Given the description of an element on the screen output the (x, y) to click on. 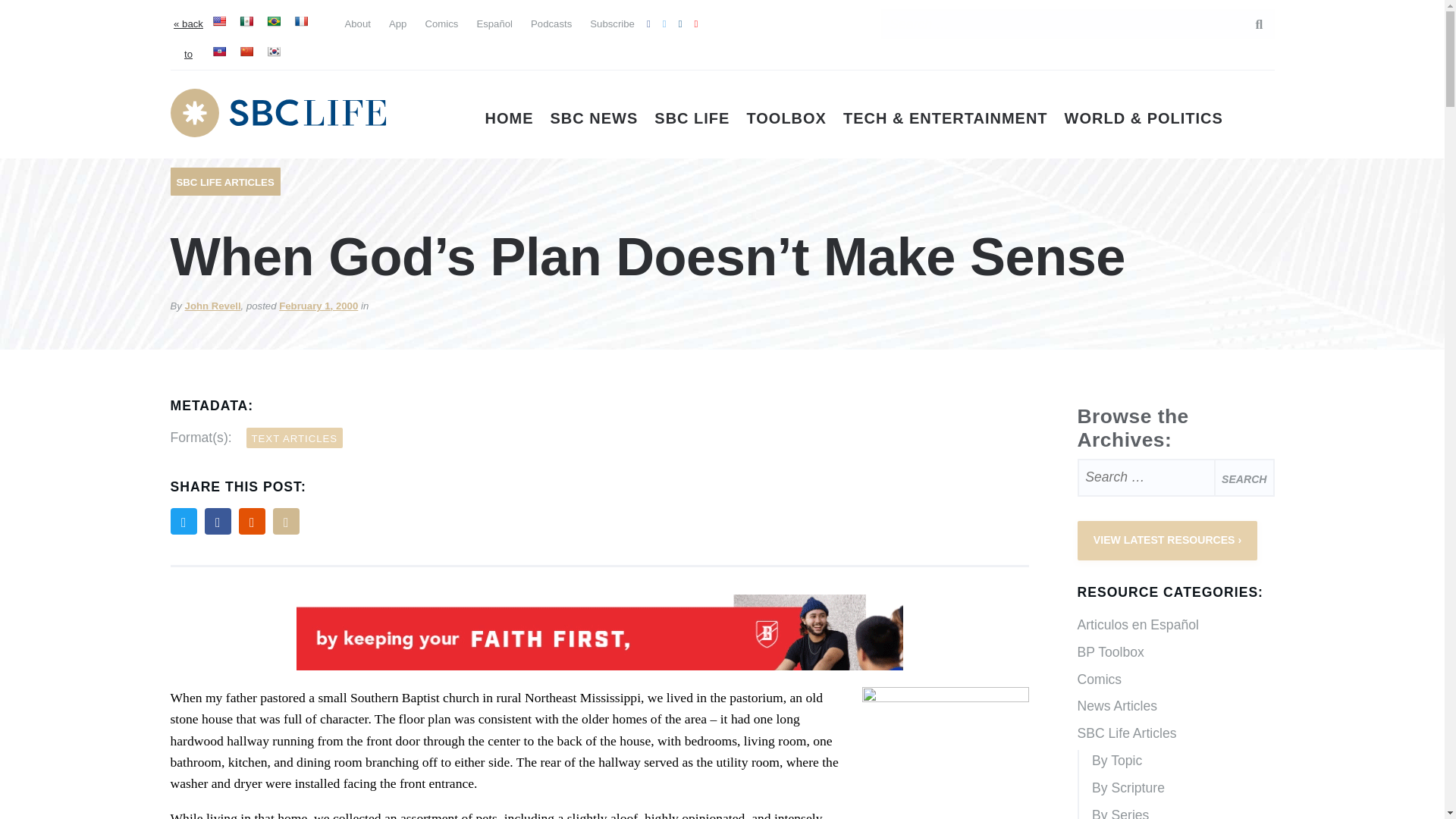
About (356, 23)
Search (1251, 24)
Korean (273, 51)
HOME (509, 117)
Spanish (246, 21)
Search (1244, 477)
Comics (441, 23)
Search (1244, 477)
Subscribe (611, 23)
Search (1244, 477)
